Given the description of an element on the screen output the (x, y) to click on. 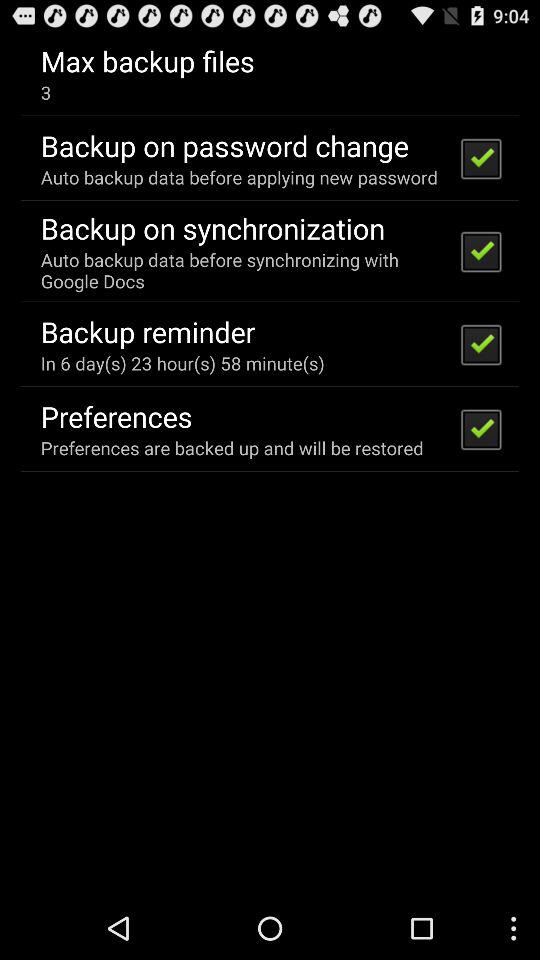
swipe to preferences are backed icon (231, 447)
